Given the description of an element on the screen output the (x, y) to click on. 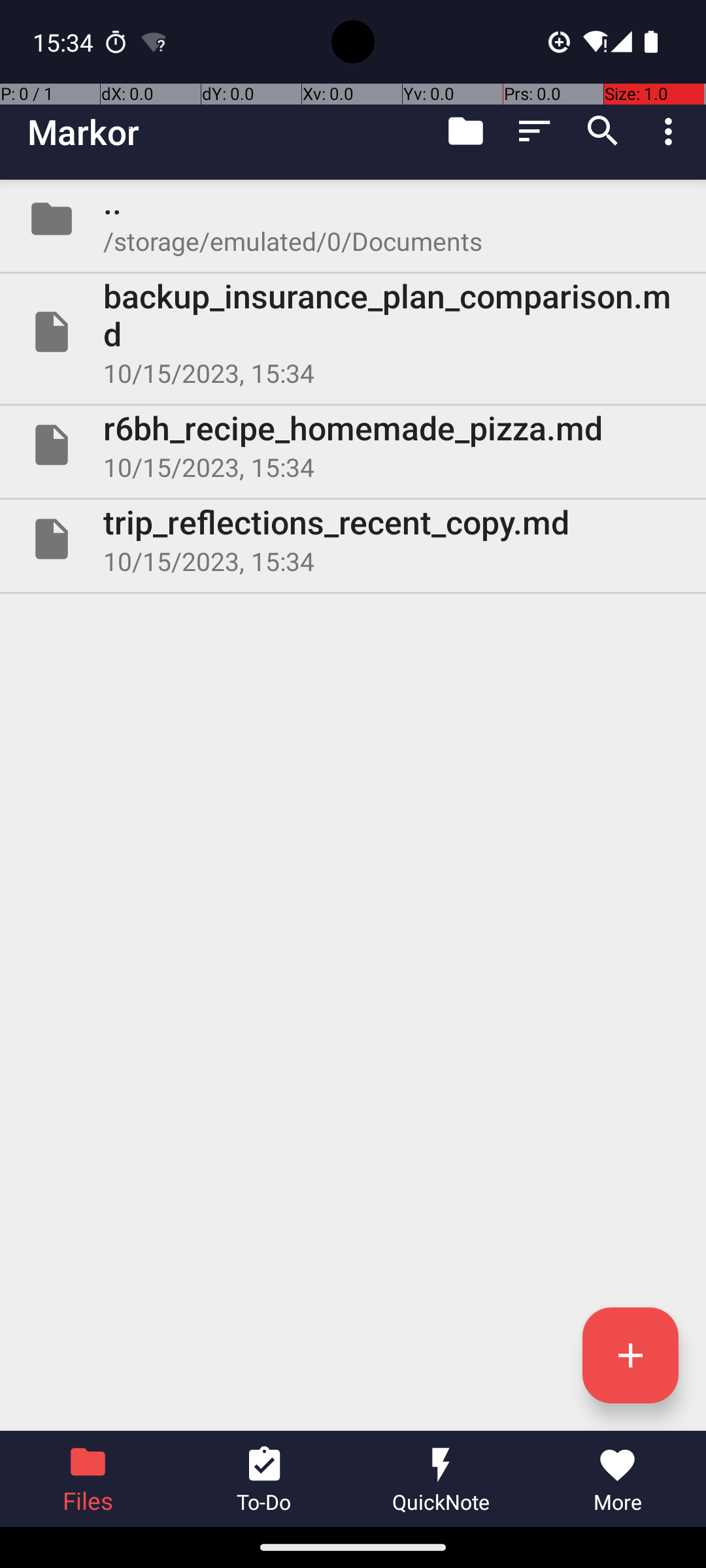
File backup_insurance_plan_comparison.md  Element type: android.widget.LinearLayout (353, 331)
File r6bh_recipe_homemade_pizza.md  Element type: android.widget.LinearLayout (353, 444)
File trip_reflections_recent_copy.md  Element type: android.widget.LinearLayout (353, 538)
